Given the description of an element on the screen output the (x, y) to click on. 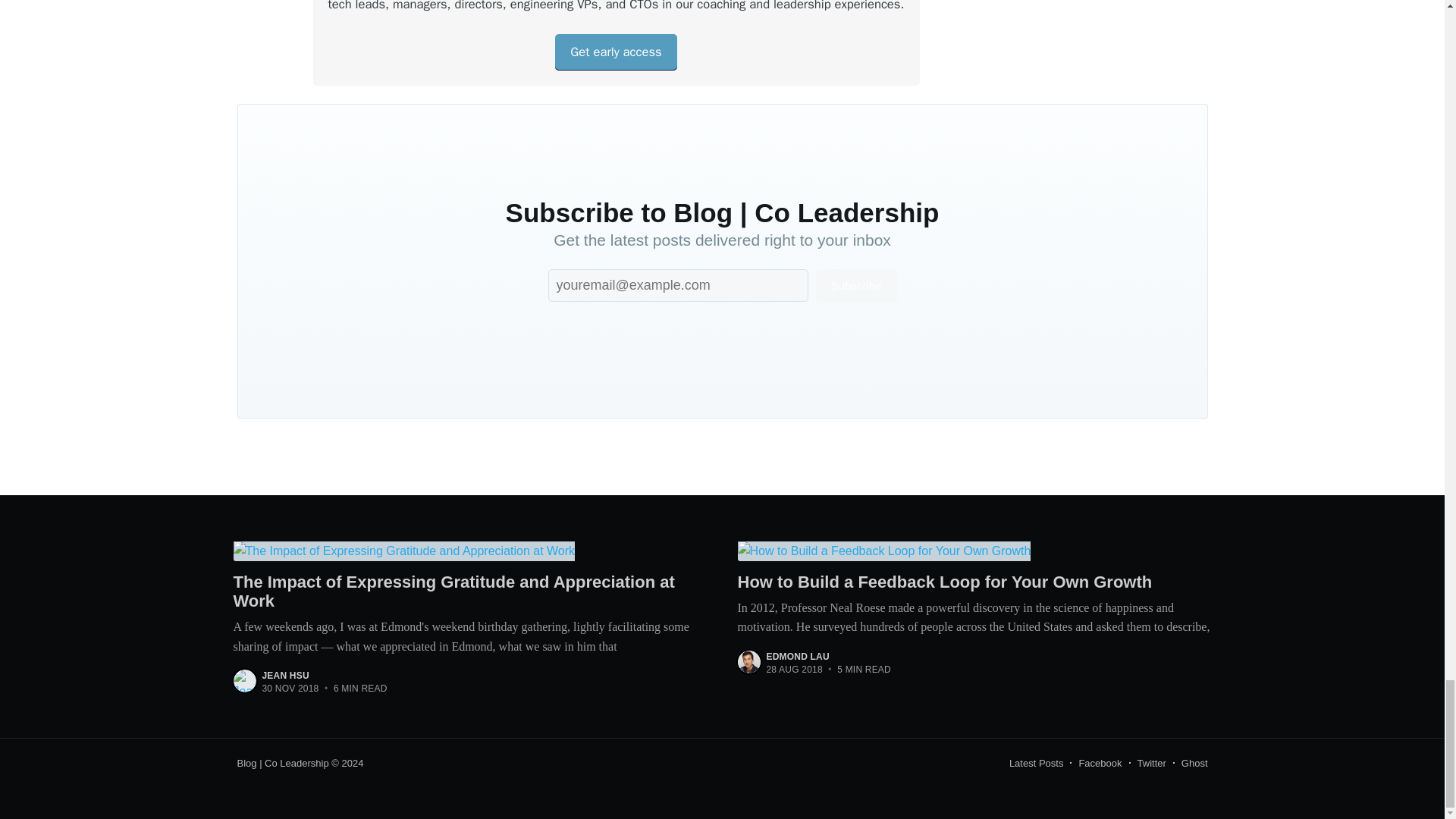
Get early access (615, 52)
EDMOND LAU (796, 656)
Facebook (1099, 763)
Latest Posts (1036, 763)
Twitter (1151, 763)
JEAN HSU (285, 675)
Subscribe (855, 285)
